Given the description of an element on the screen output the (x, y) to click on. 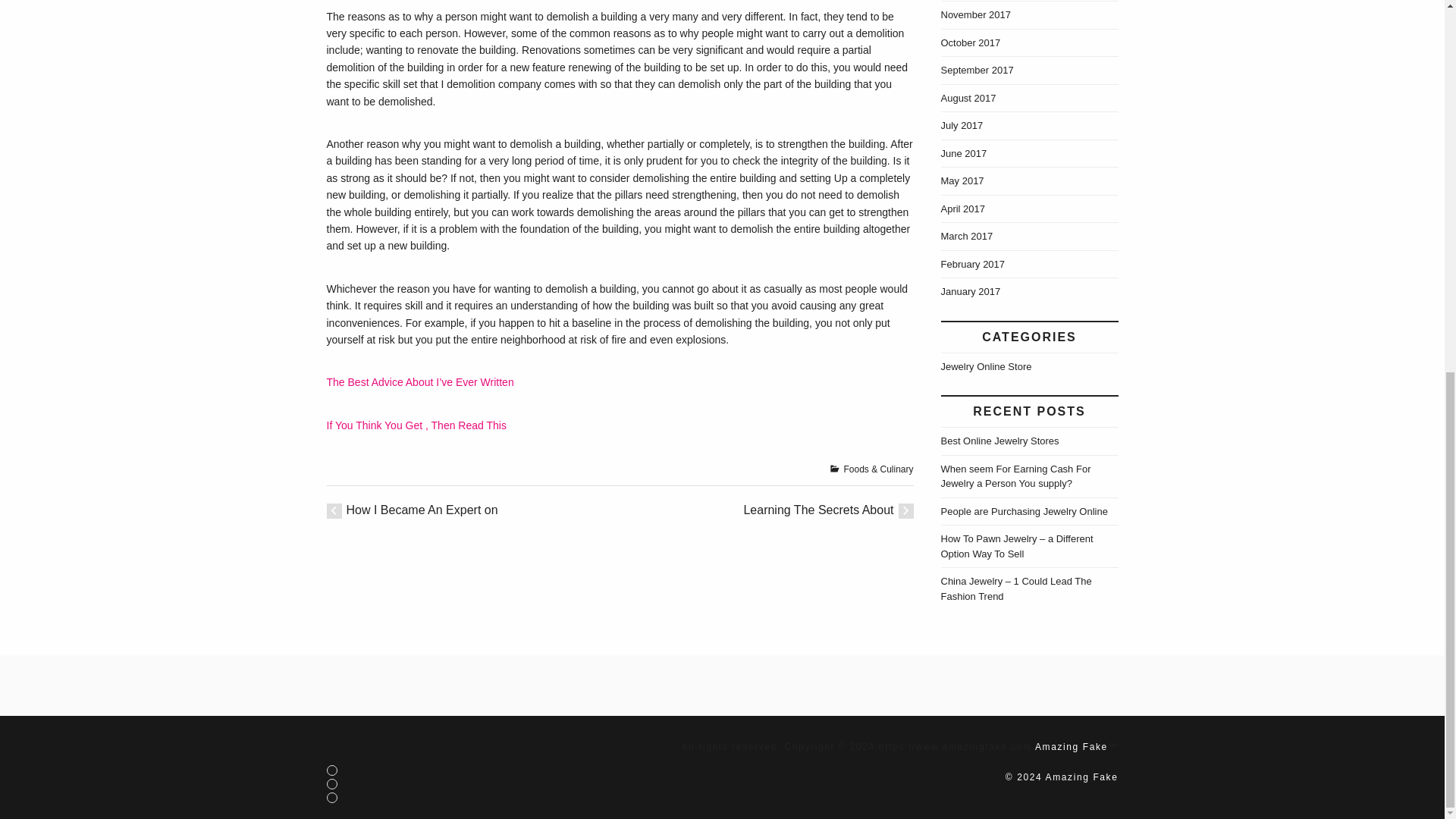
Jewelry Online Store (985, 366)
October 2017 (970, 41)
When seem For Earning Cash For Jewelry a Person You supply? (1015, 475)
February 2017 (972, 263)
November 2017 (975, 14)
July 2017 (961, 125)
August 2017 (967, 98)
Best Online Jewelry Stores (999, 440)
May 2017 (962, 180)
March 2017 (966, 235)
